Given the description of an element on the screen output the (x, y) to click on. 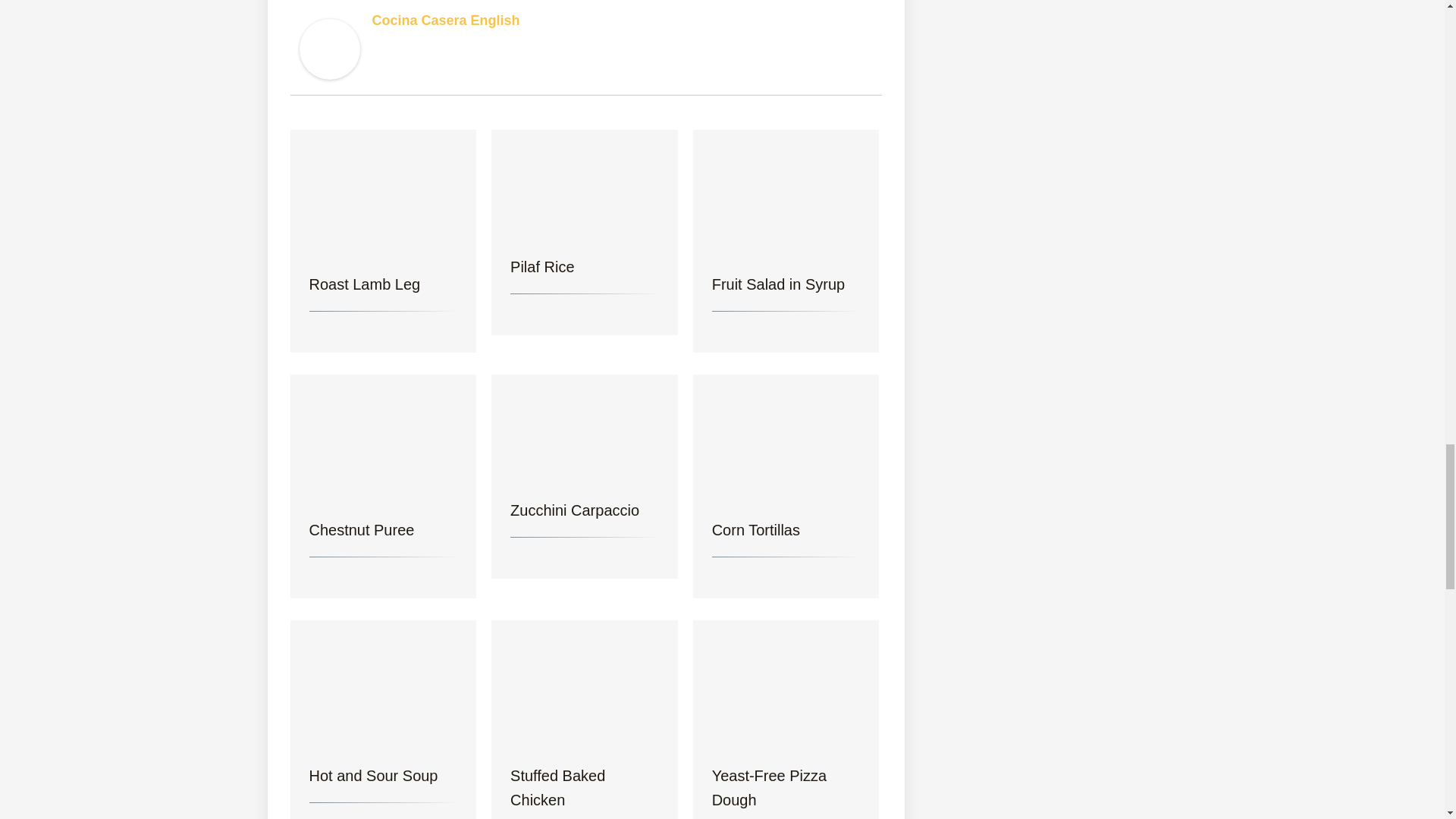
Zucchini Carpaccio (585, 426)
Cocina Casera English (445, 20)
Cocina Casera English (328, 47)
Hot and Sour Soup (382, 681)
Yeast-Free Pizza Dough (786, 681)
Pilaf Rice (585, 181)
Fruit Salad in Syrup (786, 190)
Chestnut Puree (382, 435)
Corn Tortillas (786, 435)
Roast Lamb Leg (382, 190)
Stuffed Baked Chicken (585, 681)
